Given the description of an element on the screen output the (x, y) to click on. 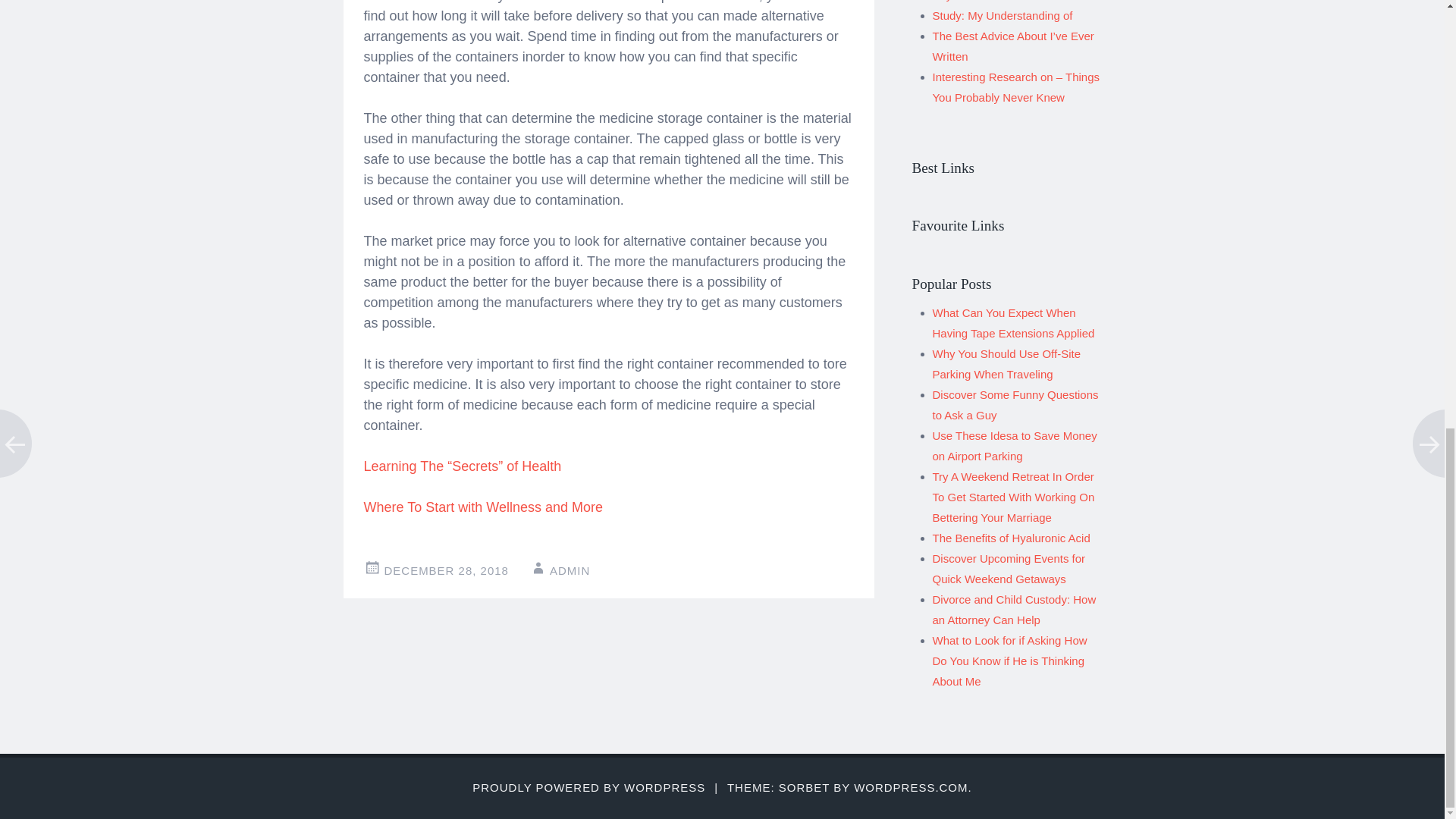
DECEMBER 28, 2018 (446, 570)
Use These Idesa to Save Money on Airport Parking (1015, 445)
Where To Start with Wellness and More (483, 507)
ADMIN (569, 570)
View all posts by admin (569, 570)
Study: My Understanding of (1003, 15)
Discover Upcoming Events for Quick Weekend Getaways (1009, 568)
Why You Should Use Off-Site Parking When Traveling (1006, 363)
Divorce and Child Custody: How an Attorney Can Help (1014, 609)
